Given the description of an element on the screen output the (x, y) to click on. 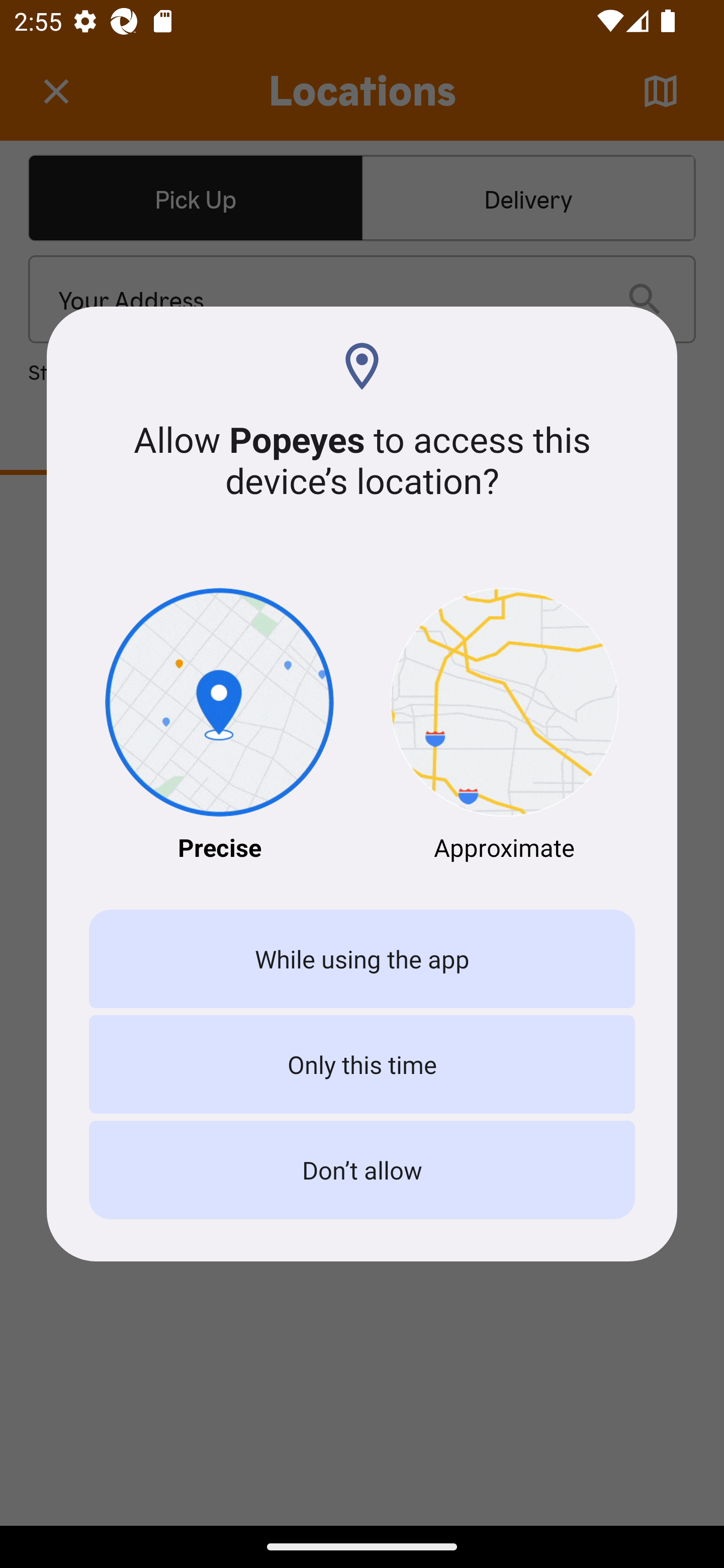
Precise (218, 725)
Approximate (504, 725)
While using the app (361, 958)
Only this time (361, 1063)
Don’t allow (361, 1170)
